Given the description of an element on the screen output the (x, y) to click on. 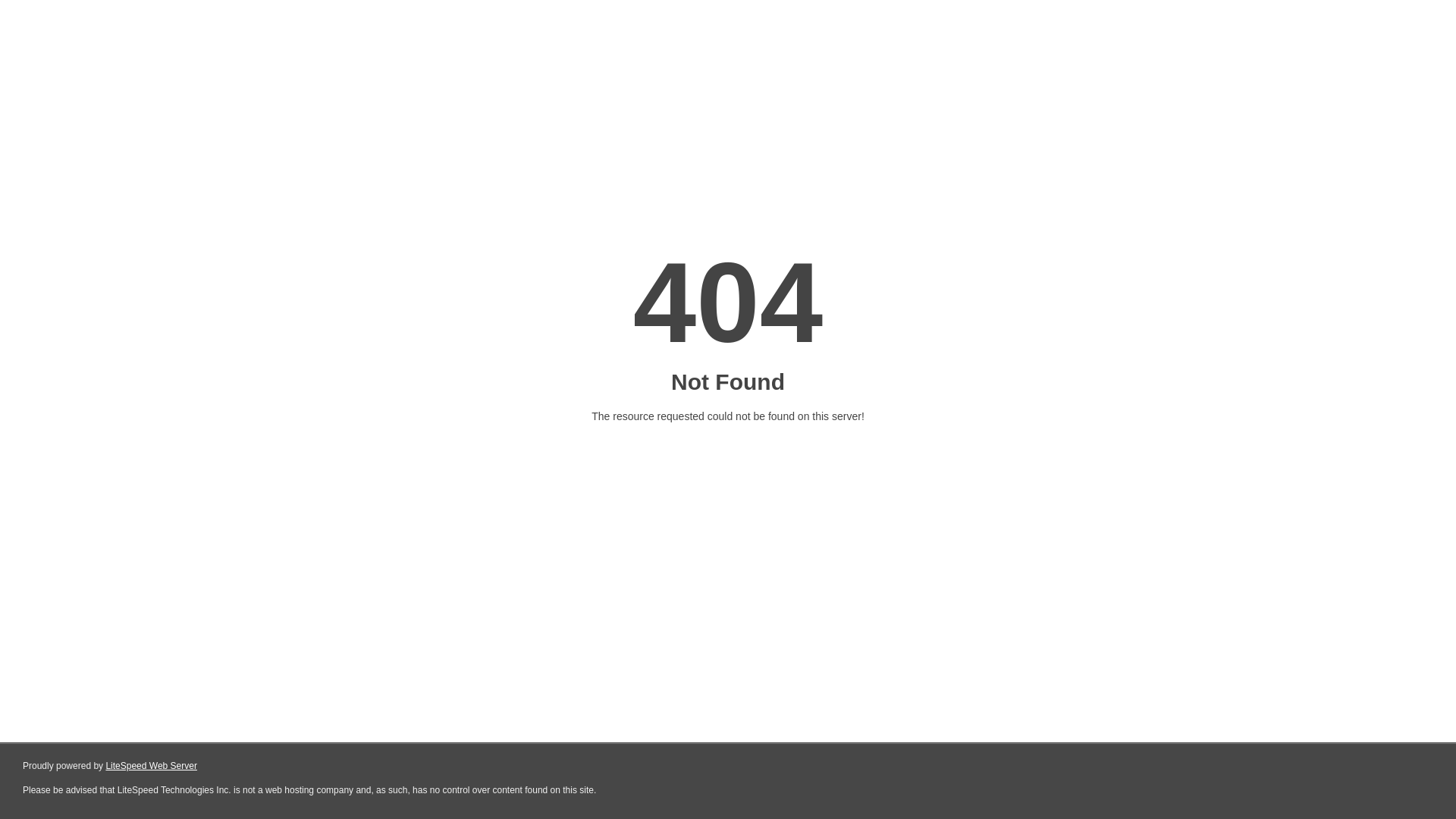
LiteSpeed Web Server Element type: text (151, 765)
